Given the description of an element on the screen output the (x, y) to click on. 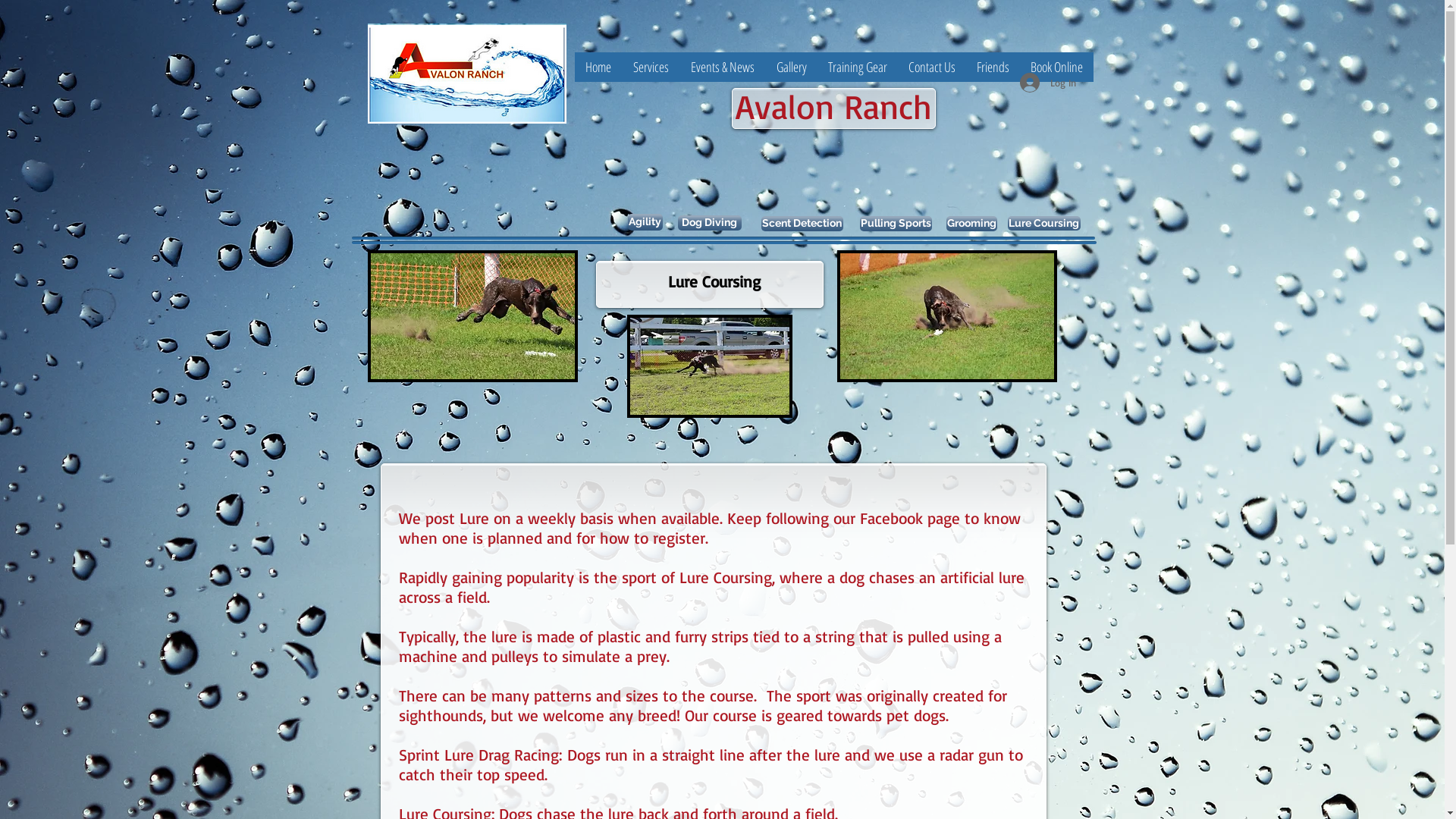
Friends Element type: text (992, 66)
Dog Diving Element type: text (709, 222)
Lure Coursing Element type: text (1043, 223)
Events & News Element type: text (722, 66)
Training Gear Element type: text (857, 66)
Gallery Element type: text (791, 66)
Home Element type: text (598, 66)
Contact Us Element type: text (931, 66)
Pulling Sports Element type: text (895, 223)
Log In Element type: text (1046, 82)
Scent Detection Element type: text (802, 223)
Grooming Element type: text (971, 223)
Book Online Element type: text (1055, 66)
Agility Element type: text (644, 221)
